Given the description of an element on the screen output the (x, y) to click on. 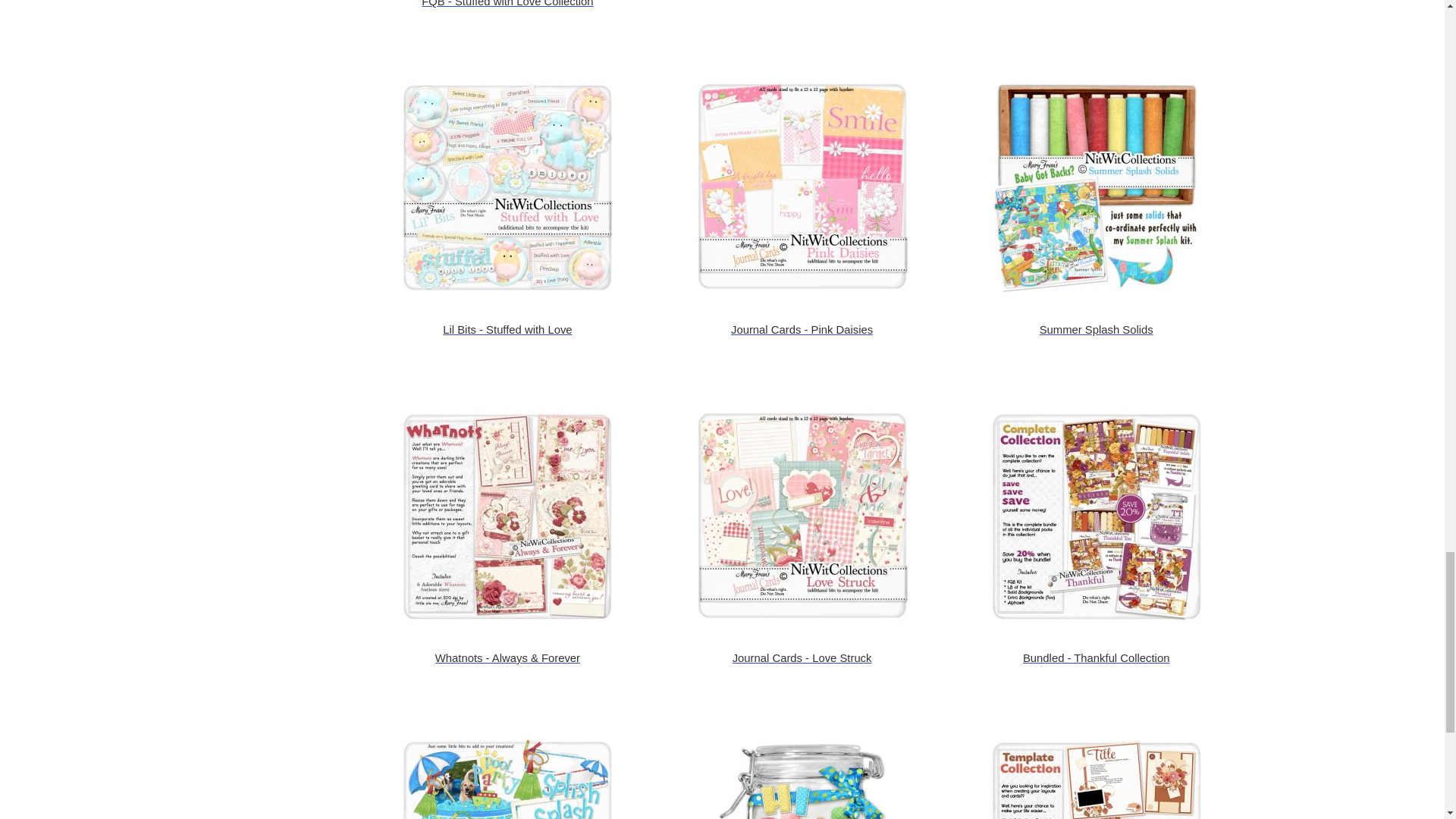
Journal Cards - Pink Daisies (801, 187)
Lil Bits - Stuffed with Love (506, 187)
